Given the description of an element on the screen output the (x, y) to click on. 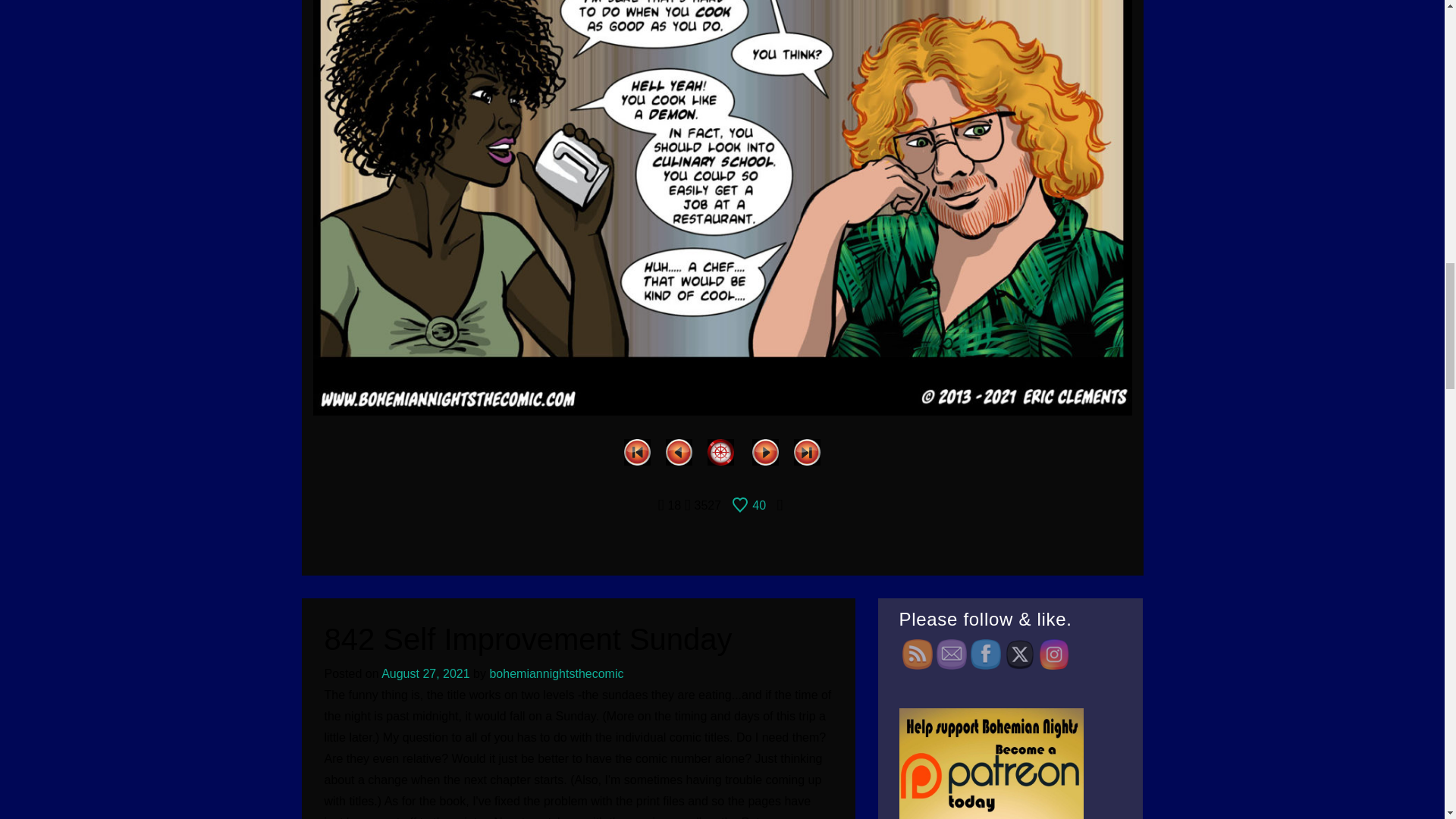
August 27, 2021 (425, 673)
bohemiannightsthecomic (556, 673)
And so it Begins... (637, 449)
